Given the description of an element on the screen output the (x, y) to click on. 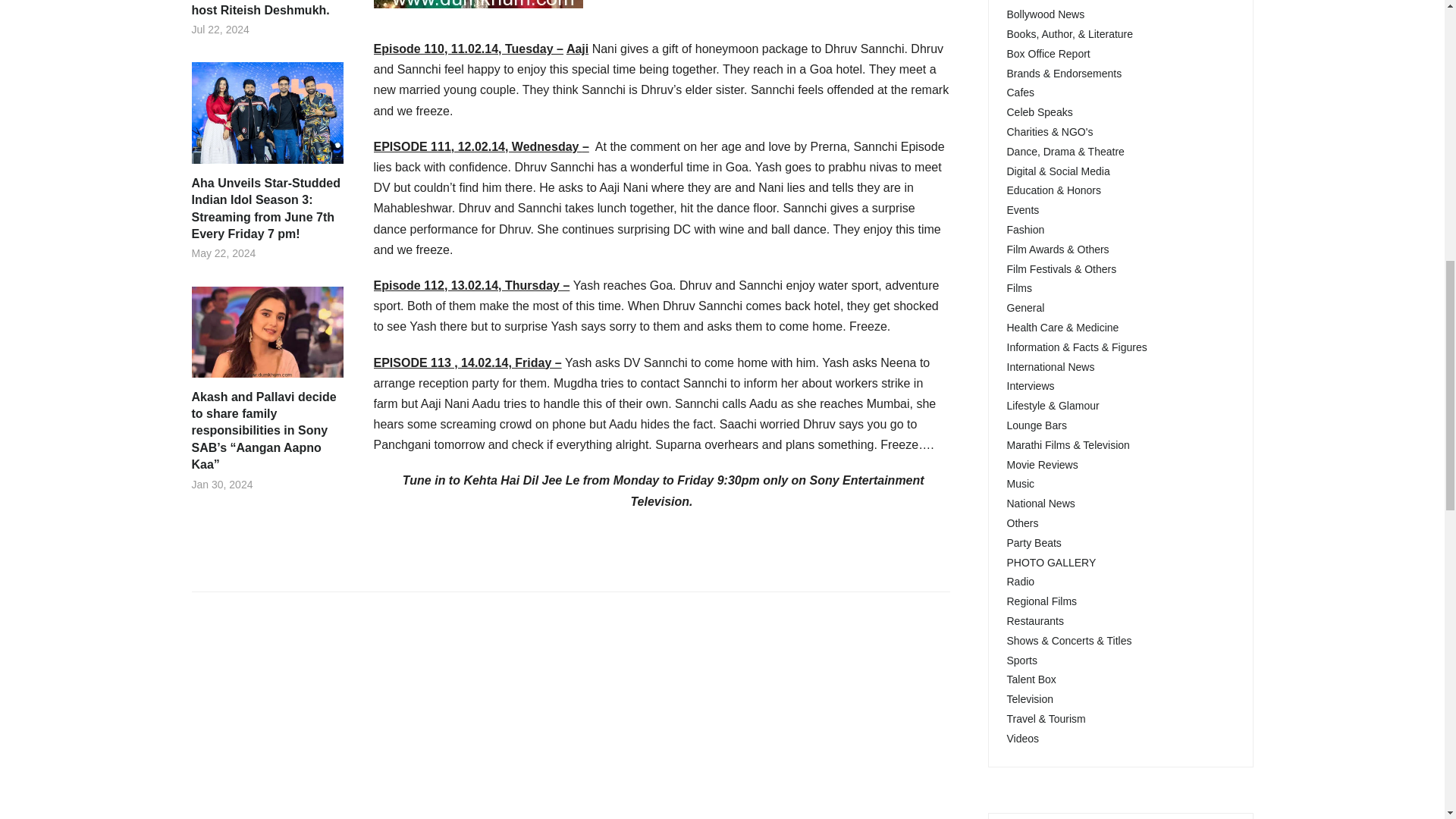
Sannchi and Dhruv - Kehta hain Dil (477, 4)
